Given the description of an element on the screen output the (x, y) to click on. 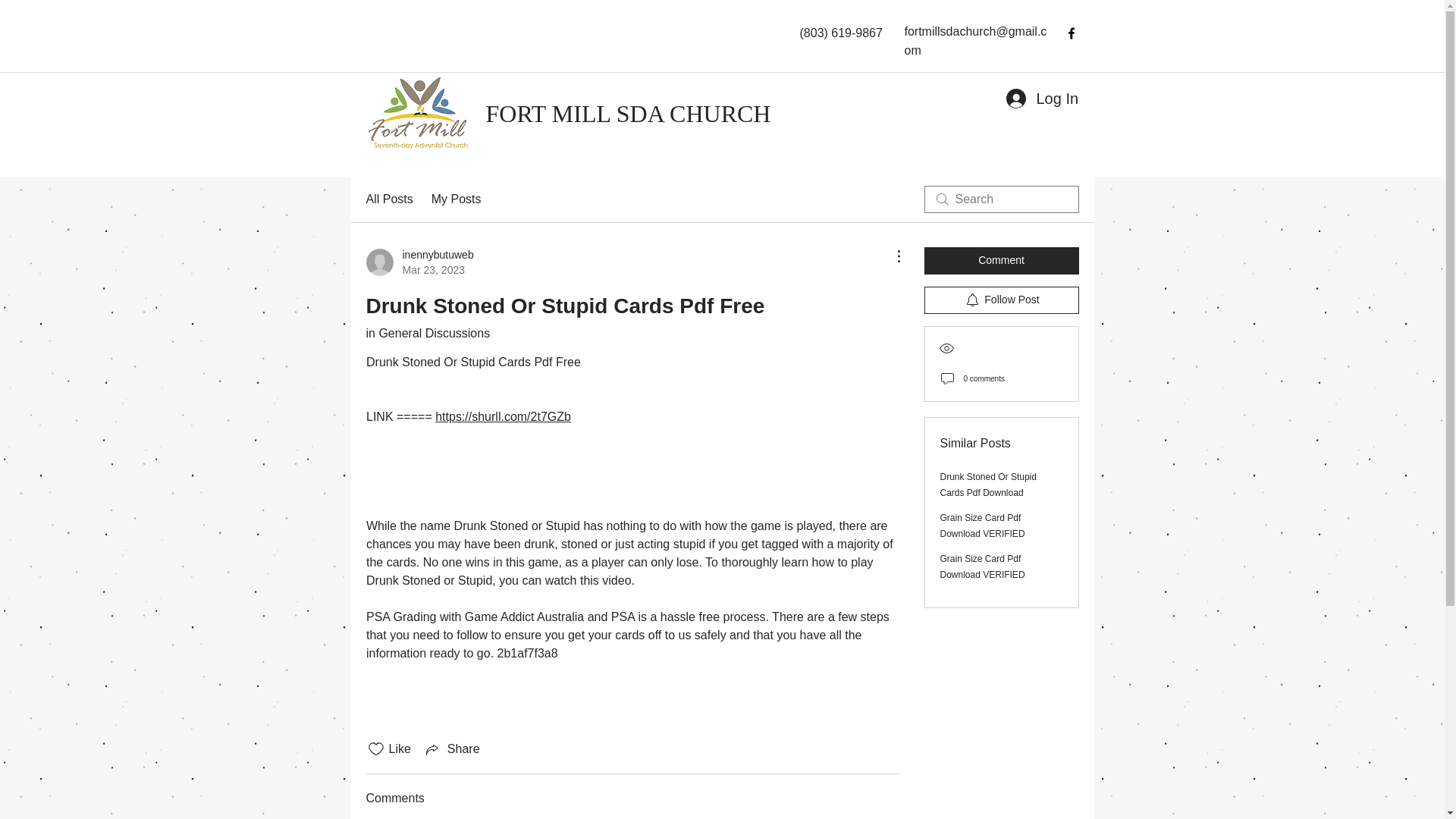
Drunk Stoned Or Stupid Cards Pdf Download (988, 484)
My Posts (455, 199)
Follow Post (1000, 299)
Grain Size Card Pdf Download VERIFIED (982, 566)
in General Discussions (427, 332)
Grain Size Card Pdf Download VERIFIED (419, 262)
All Posts (982, 525)
Comment (388, 199)
Log In (1000, 260)
